Given the description of an element on the screen output the (x, y) to click on. 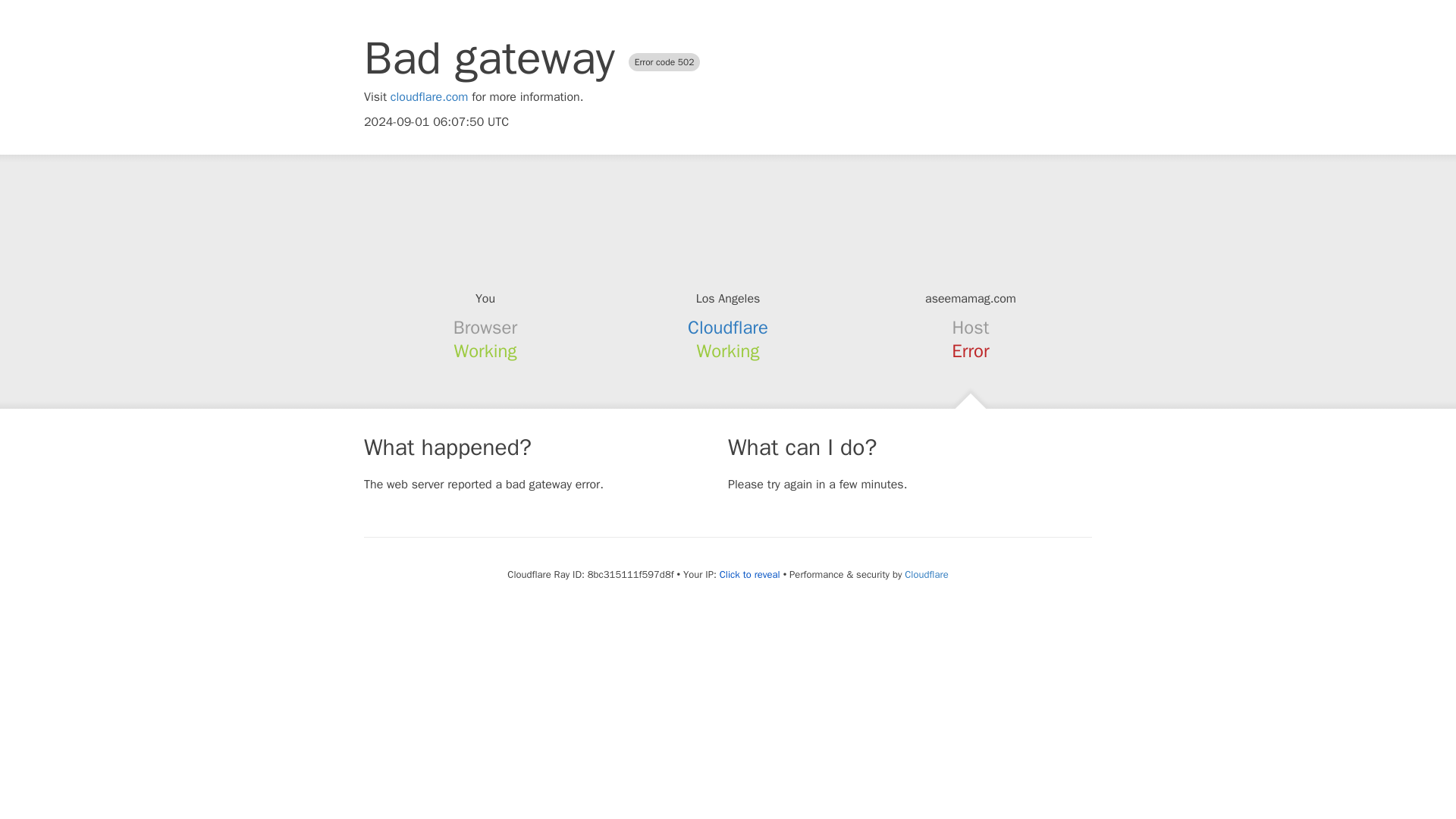
Cloudflare (925, 574)
Cloudflare (727, 327)
Click to reveal (749, 574)
cloudflare.com (429, 96)
